Given the description of an element on the screen output the (x, y) to click on. 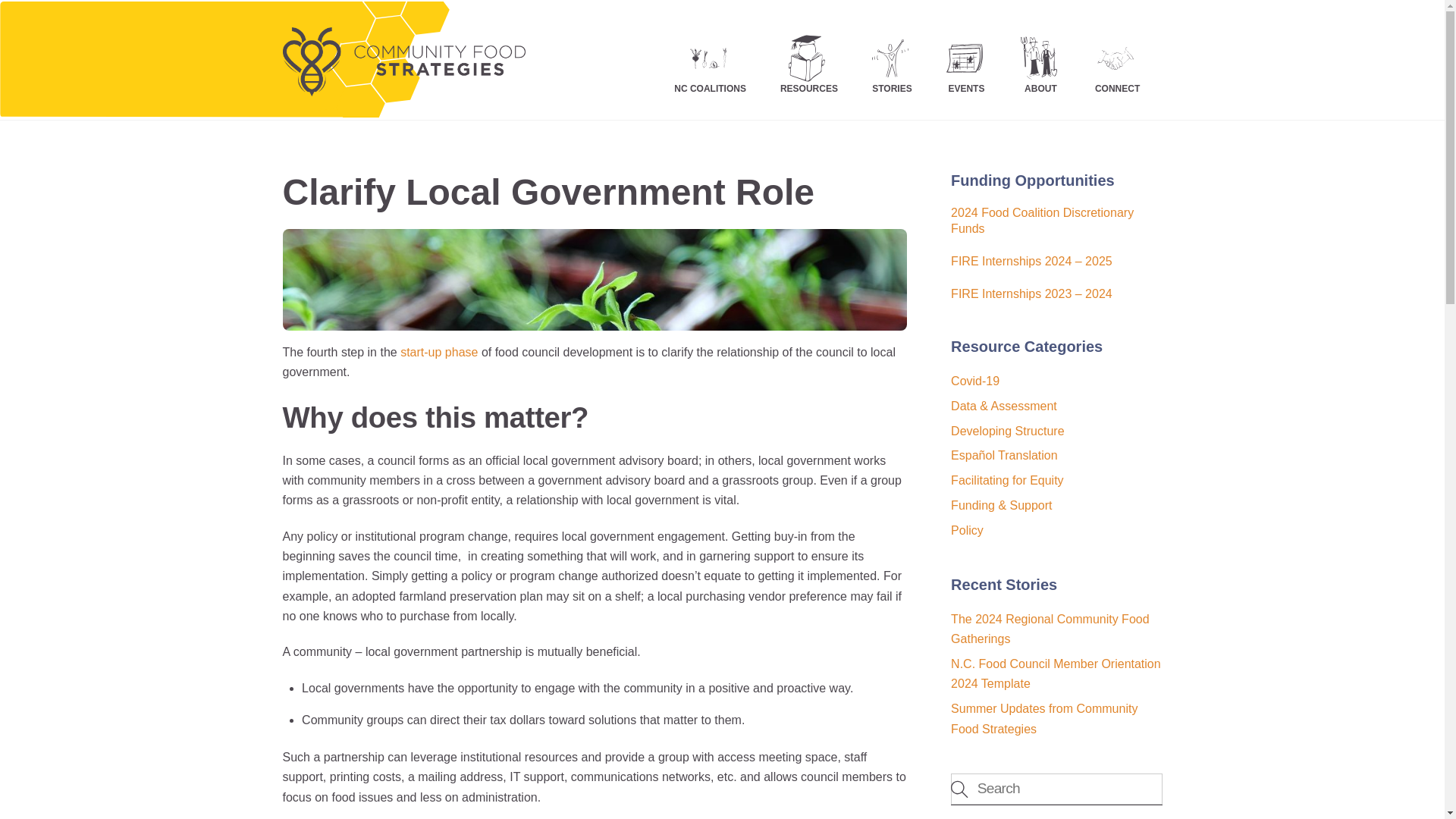
Covid-19 (974, 380)
Facilitating for Equity (1007, 480)
N.C. Food Council Member Orientation 2024 Template (1055, 673)
Search (1055, 788)
NC COALITIONS (709, 58)
Summer Updates from Community Food Strategies (1043, 717)
The 2024 Regional Community Food Gatherings (1049, 628)
2024 Food Coalition Discretionary Funds (1055, 221)
Seedlings (594, 279)
Community Food Strategies (403, 86)
